Given the description of an element on the screen output the (x, y) to click on. 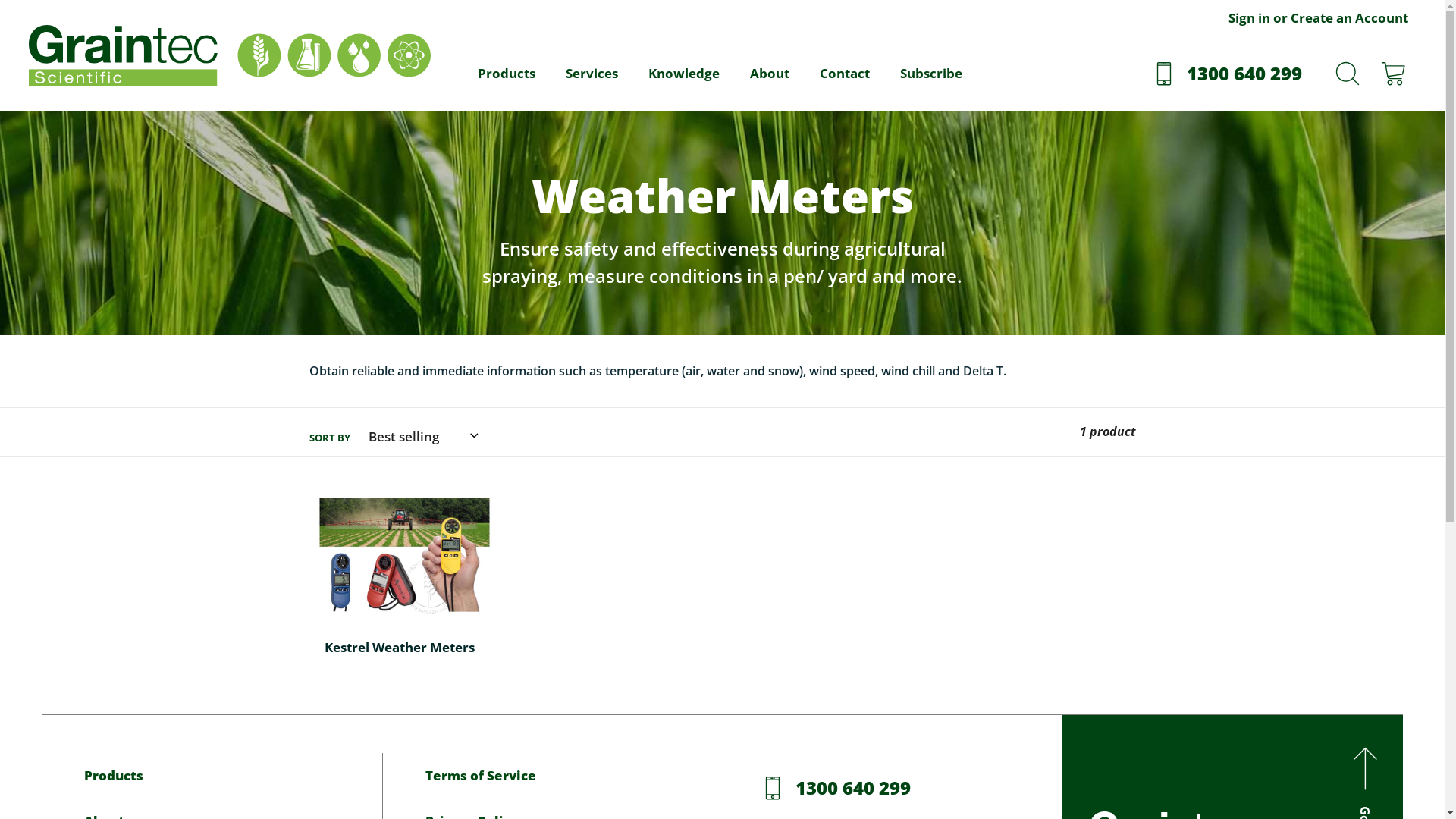
Sign in or Create an Account Element type: text (1317, 20)
Knowledge Element type: text (683, 73)
About Element type: text (769, 73)
1300 640 299 Element type: text (1229, 73)
1300 640 299 Element type: text (837, 787)
Terms of Service Element type: text (552, 775)
Contact Element type: text (844, 73)
Search Element type: text (1347, 73)
Subscribe Element type: text (930, 73)
Services Element type: text (591, 73)
Products Element type: text (211, 775)
Cart Element type: text (1392, 73)
Products Element type: text (506, 73)
Kestrel Weather Meters Element type: text (403, 585)
